Given the description of an element on the screen output the (x, y) to click on. 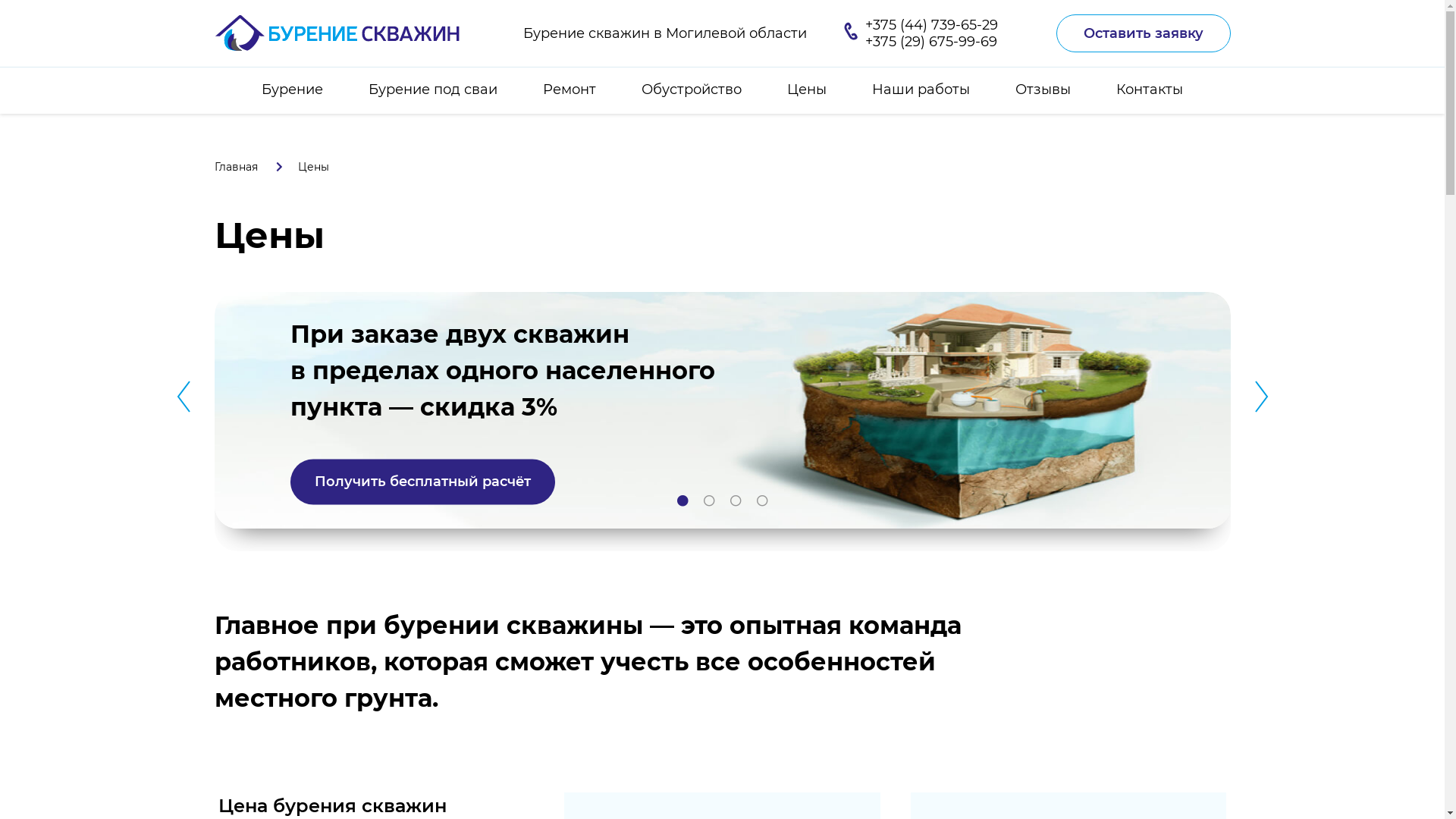
4 Element type: text (761, 500)
+375 (44) 739-65-29 Element type: text (930, 24)
2 Element type: text (708, 500)
+375 (29) 675-99-69 Element type: text (930, 41)
1 Element type: text (682, 500)
3 Element type: text (735, 500)
